Given the description of an element on the screen output the (x, y) to click on. 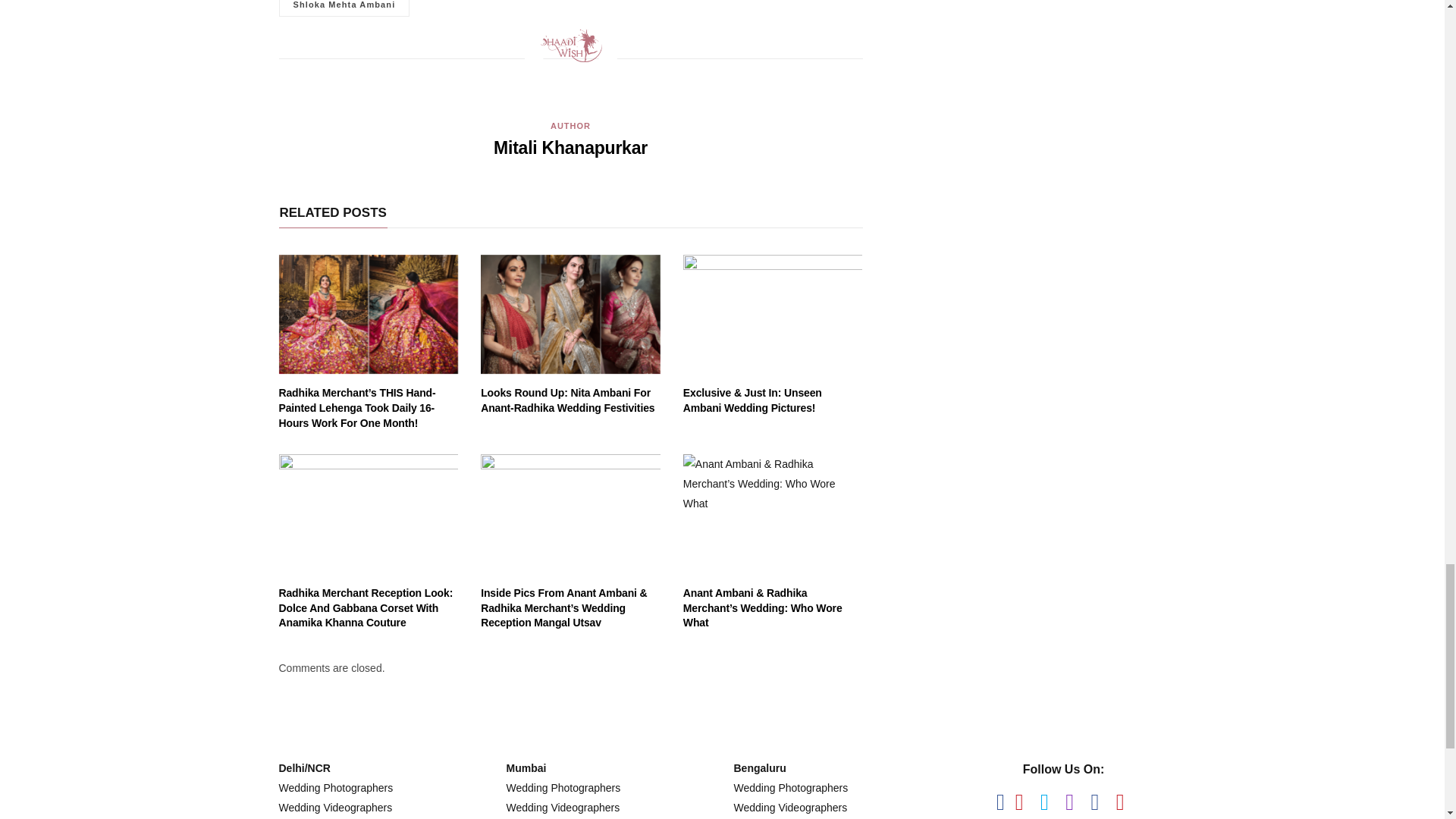
Mitali Khanapurkar (570, 147)
Posts by Mitali Khanapurkar (570, 147)
Shloka Mehta Ambani (344, 8)
